Given the description of an element on the screen output the (x, y) to click on. 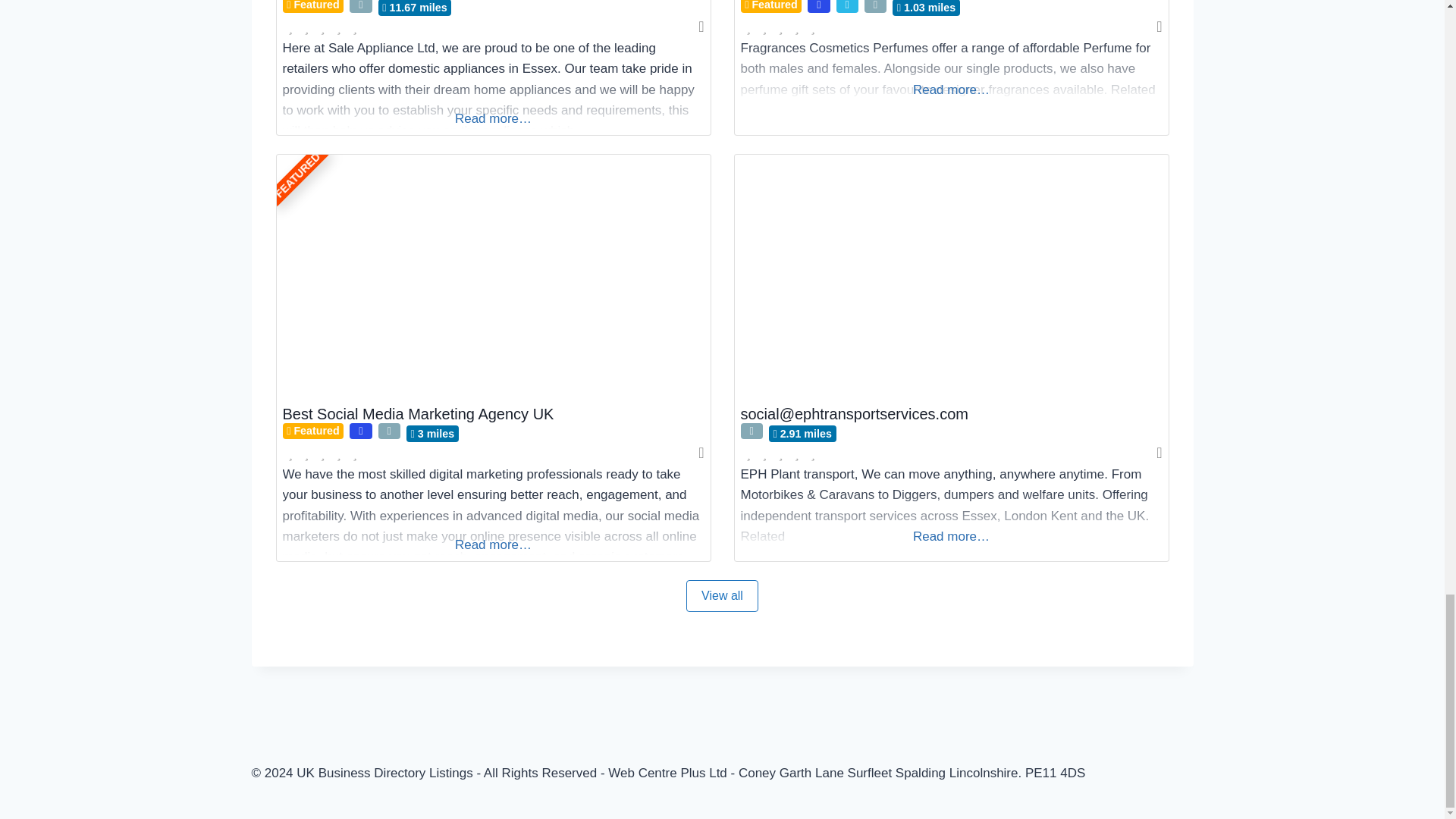
No rating yet! (322, 453)
Distance from the current listing, click for directions. (432, 433)
Distance from the current listing, click for directions. (801, 433)
Distance from the current listing, click for directions. (414, 7)
No rating yet! (322, 27)
View: Best Social Media Marketing Agency UK (417, 413)
Distance from the current listing, click for directions. (925, 7)
dfdsha (950, 276)
No rating yet! (780, 27)
